Given the description of an element on the screen output the (x, y) to click on. 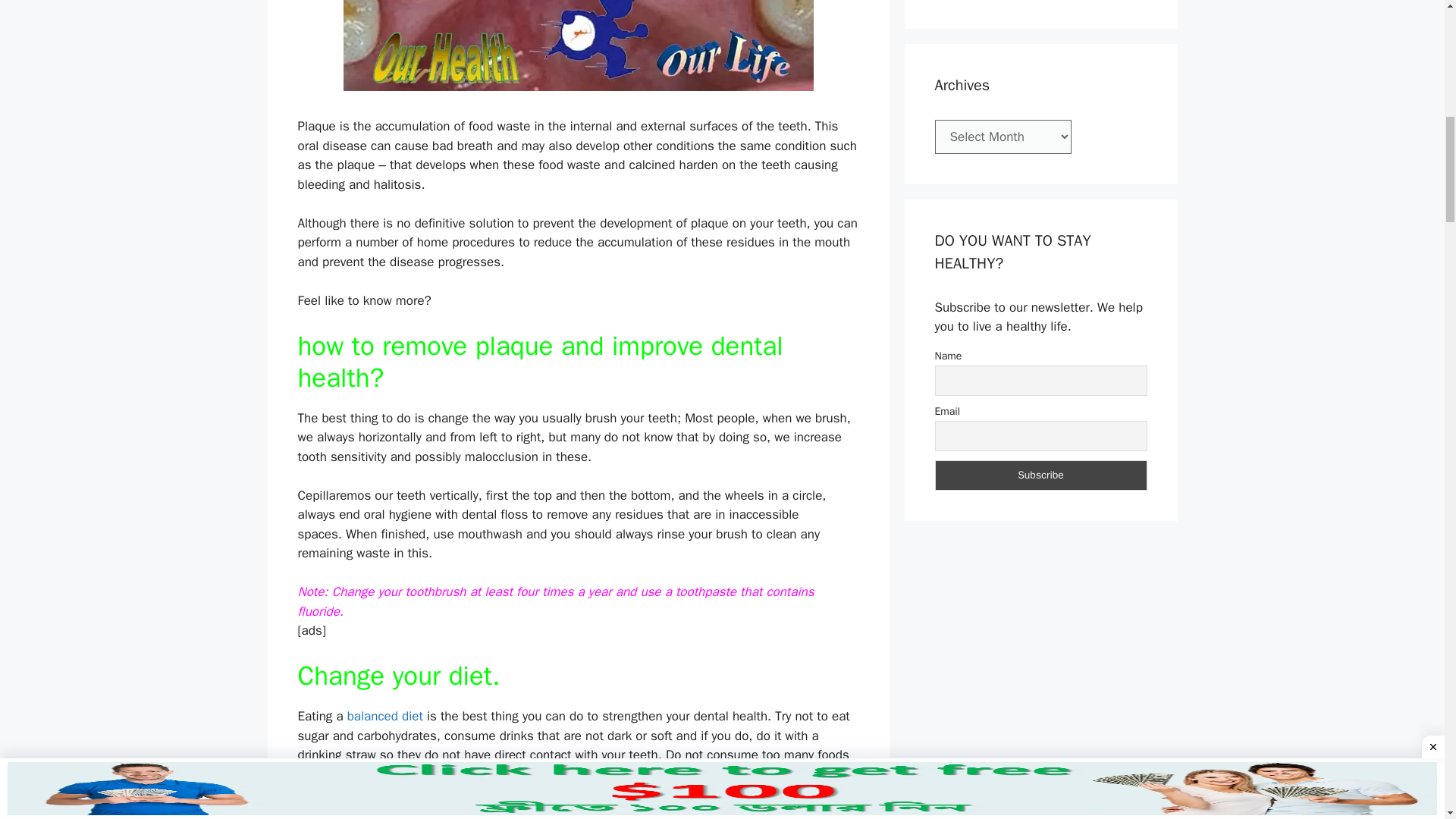
Subscribe (1040, 475)
balanced diet (385, 715)
